Given the description of an element on the screen output the (x, y) to click on. 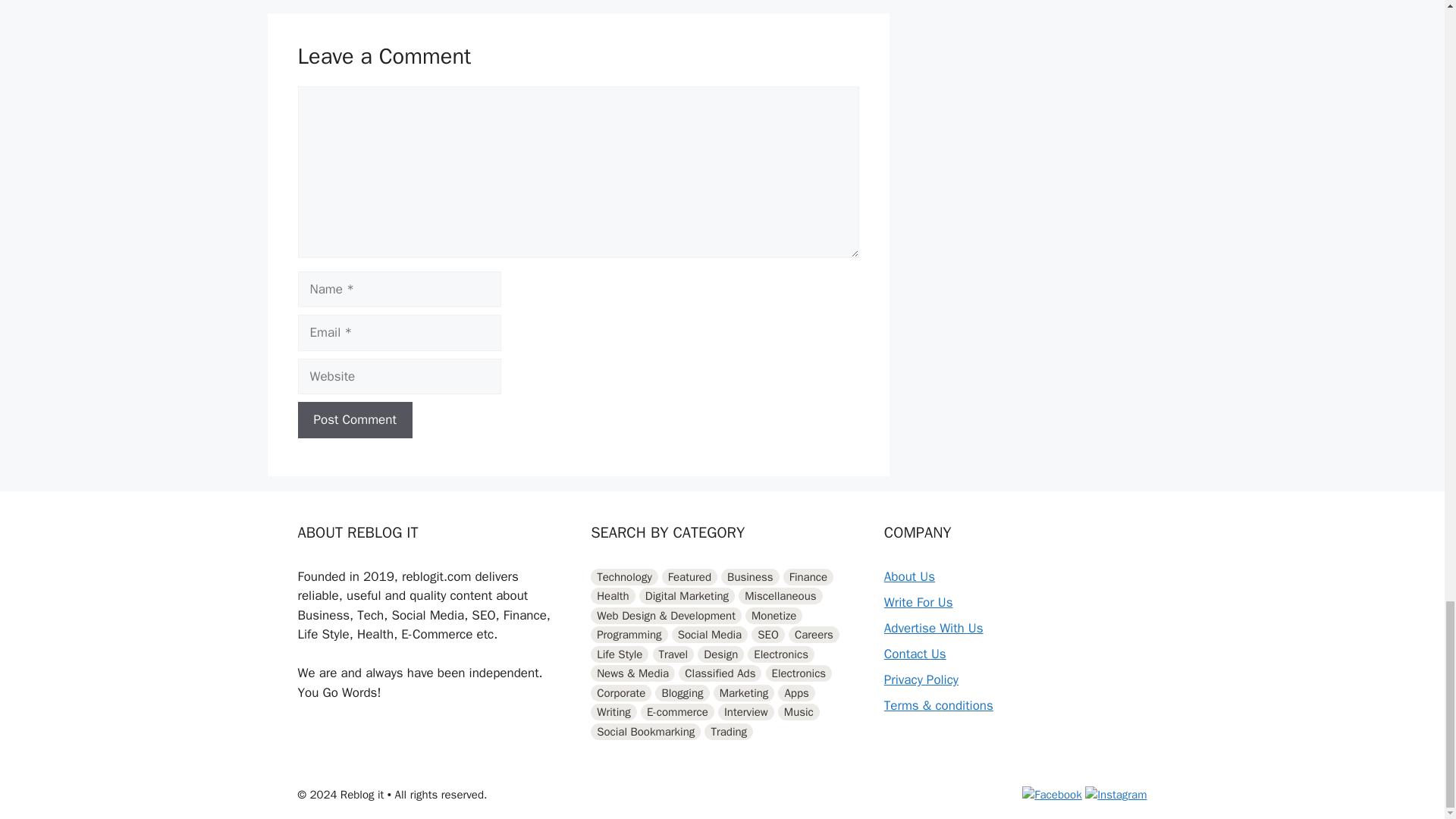
Post Comment (354, 420)
Featured (689, 576)
Post Comment (354, 420)
Business (749, 576)
Health (612, 596)
Finance (807, 576)
Technology (624, 576)
